Given the description of an element on the screen output the (x, y) to click on. 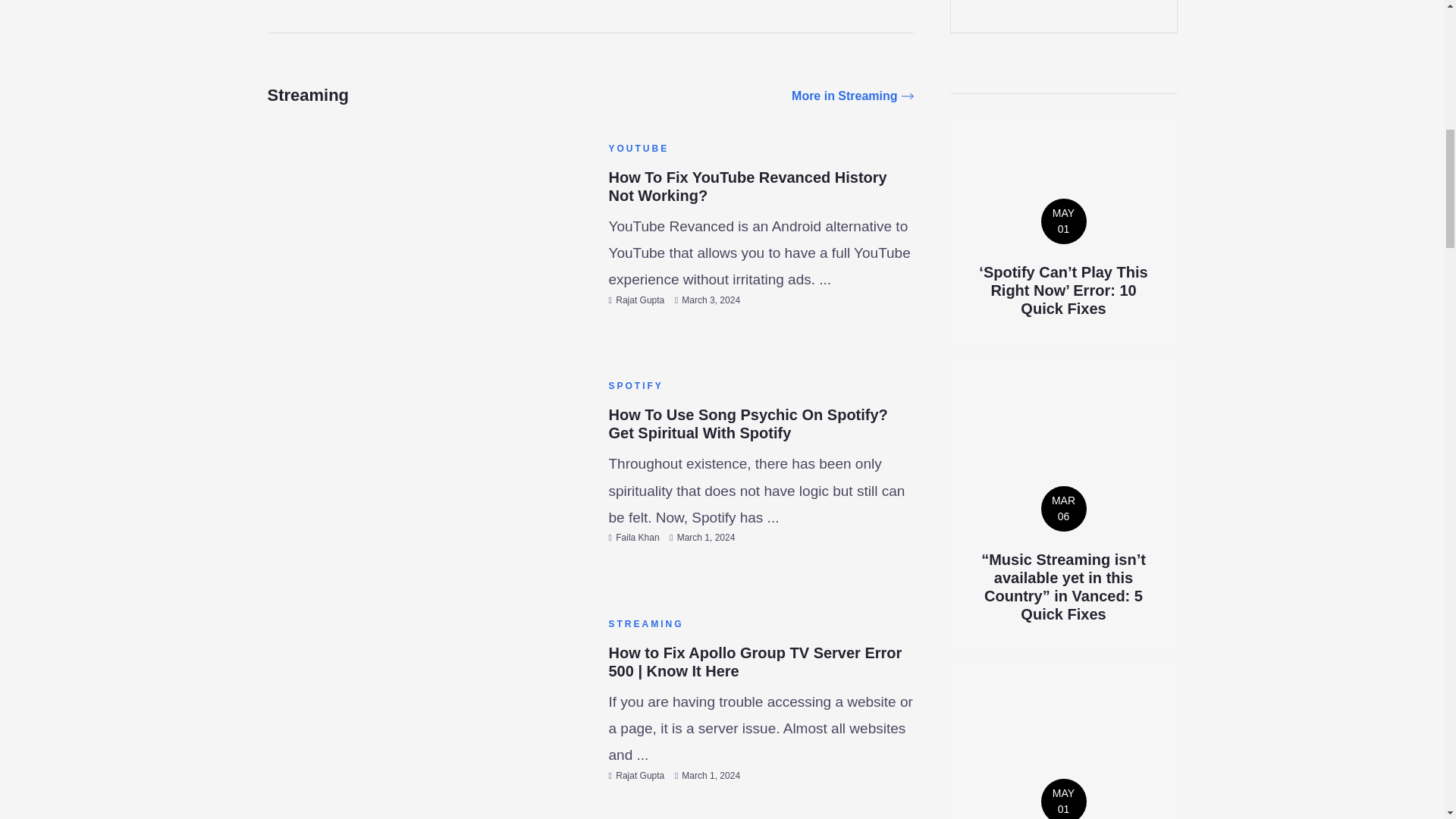
Posts by Faila Khan (637, 537)
Posts by Rajat Gupta (639, 299)
Posts by Rajat Gupta (639, 775)
